Given the description of an element on the screen output the (x, y) to click on. 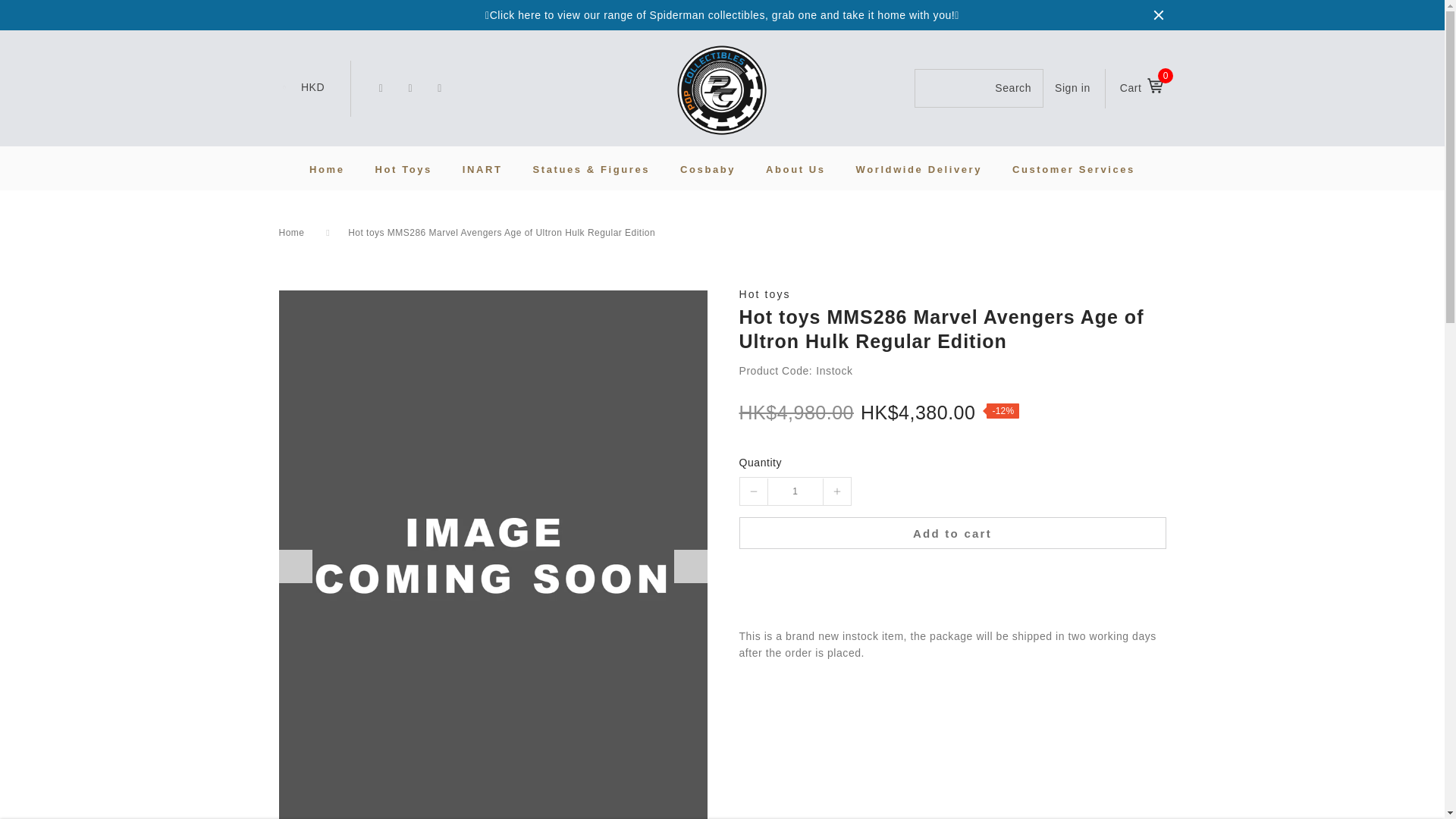
Hot Toys (402, 168)
Search (978, 87)
Sign in (1072, 87)
Hot toys (952, 294)
1 (795, 491)
